Given the description of an element on the screen output the (x, y) to click on. 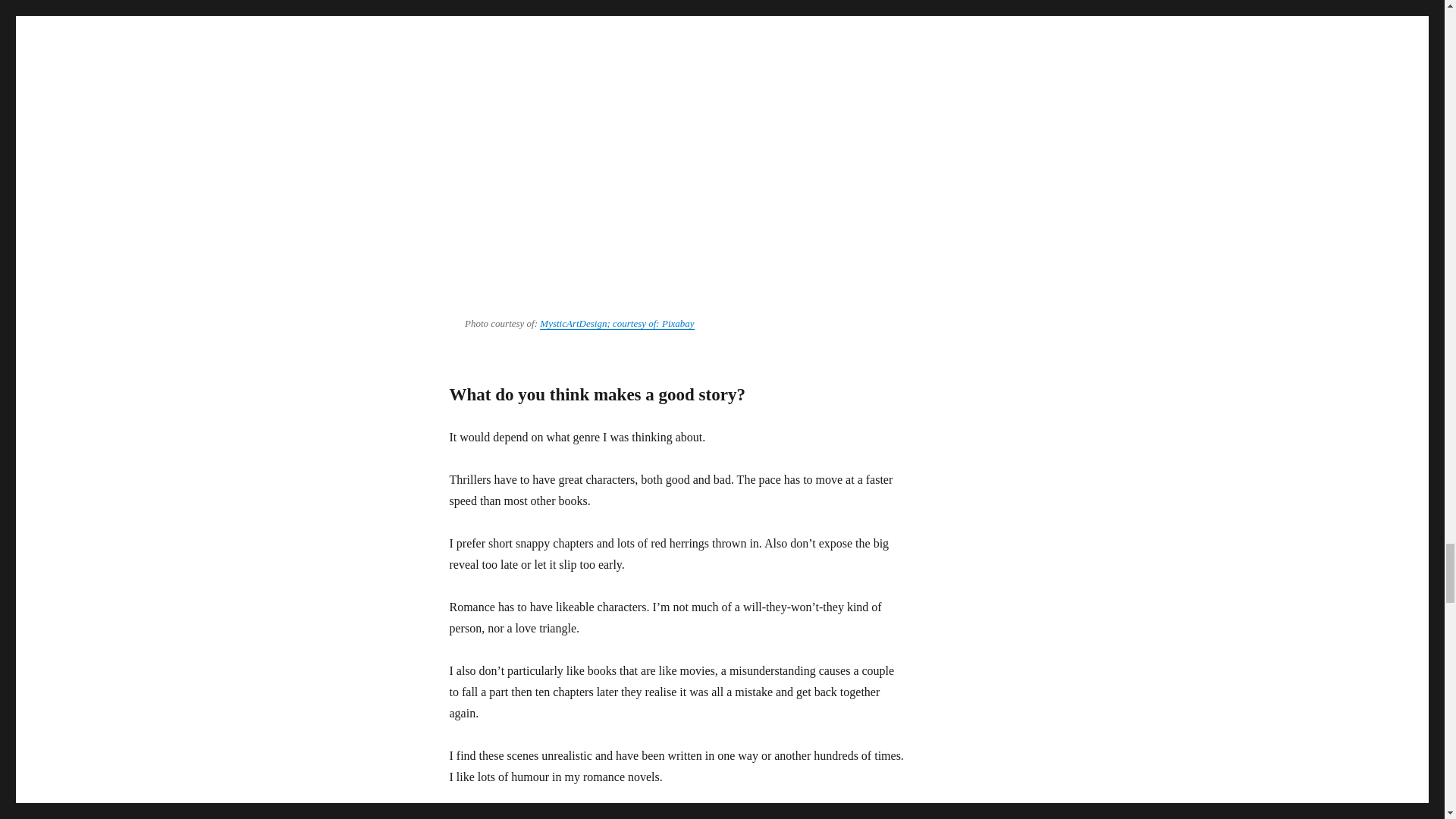
MysticArtDesign; courtesy of: Pixabay (617, 323)
